Given the description of an element on the screen output the (x, y) to click on. 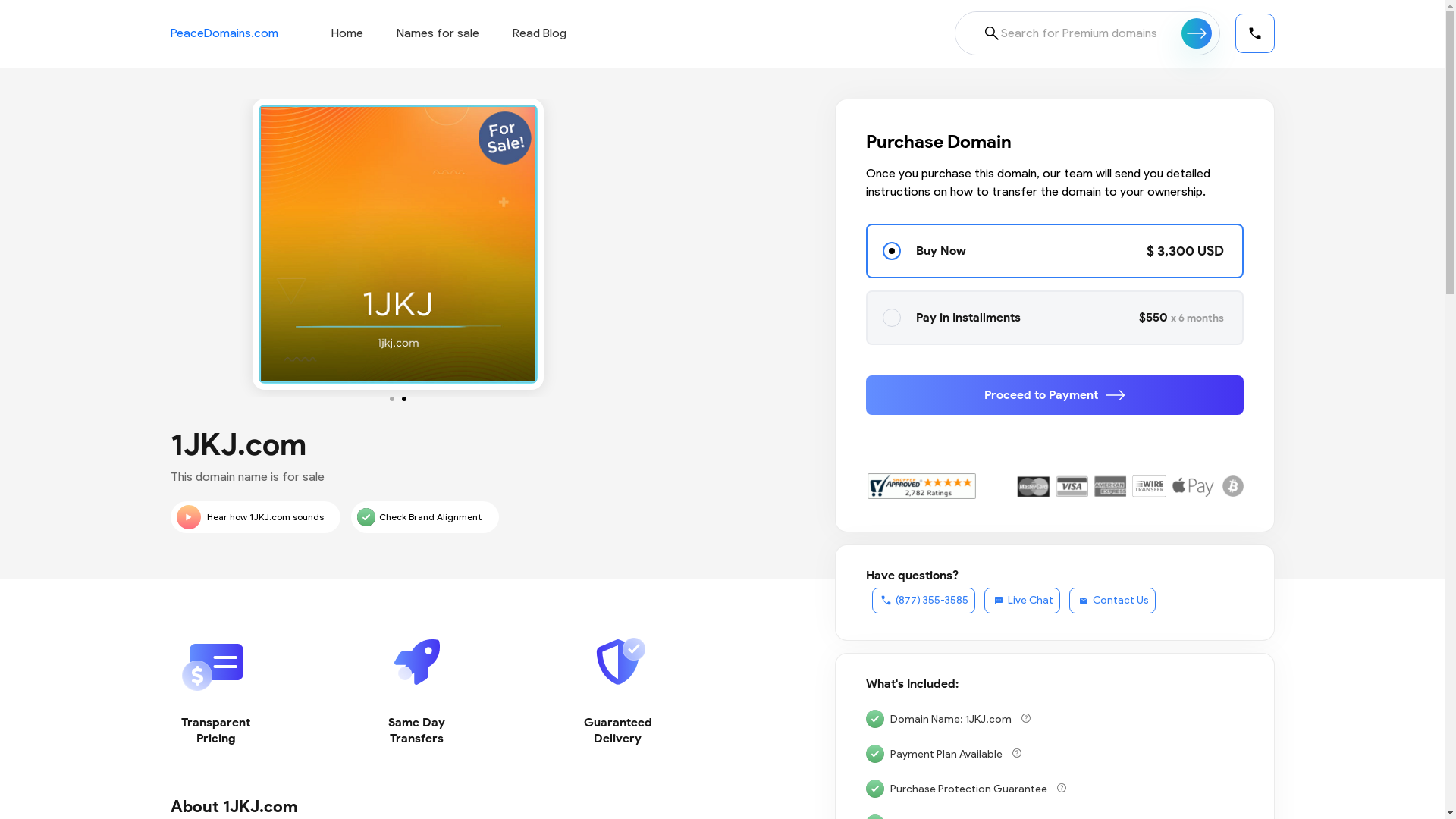
Contact Us Element type: text (1112, 600)
Proceed to Payment Element type: text (1054, 394)
Check Brand Alignment Element type: text (424, 517)
PeaceDomains.com Element type: text (223, 33)
Hear how 1JKJ.com sounds Element type: text (254, 517)
Live Chat Element type: text (1022, 600)
(877) 355-3585 Element type: text (923, 600)
Names for sale Element type: text (436, 33)
Read Blog Element type: text (539, 33)
Home Element type: text (346, 33)
Buy Now
$ 3,300 USD Element type: text (1054, 250)
